Given the description of an element on the screen output the (x, y) to click on. 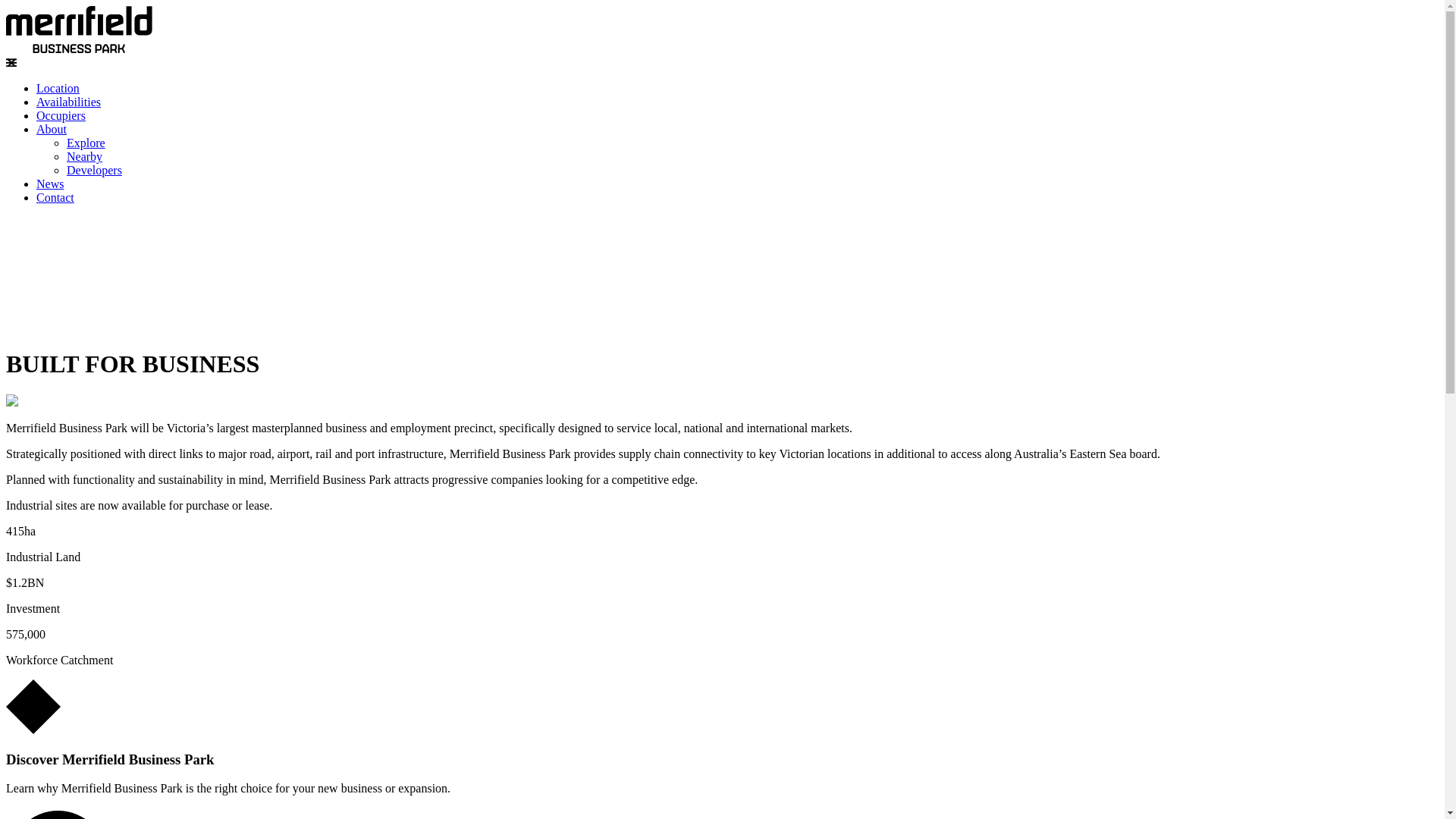
News Element type: text (49, 183)
Explore Element type: text (85, 142)
Contact Element type: text (55, 197)
About Element type: text (51, 128)
Nearby Element type: text (84, 156)
Developers Element type: text (94, 169)
Location Element type: text (57, 87)
Availabilities Element type: text (68, 101)
Occupiers Element type: text (60, 115)
